Given the description of an element on the screen output the (x, y) to click on. 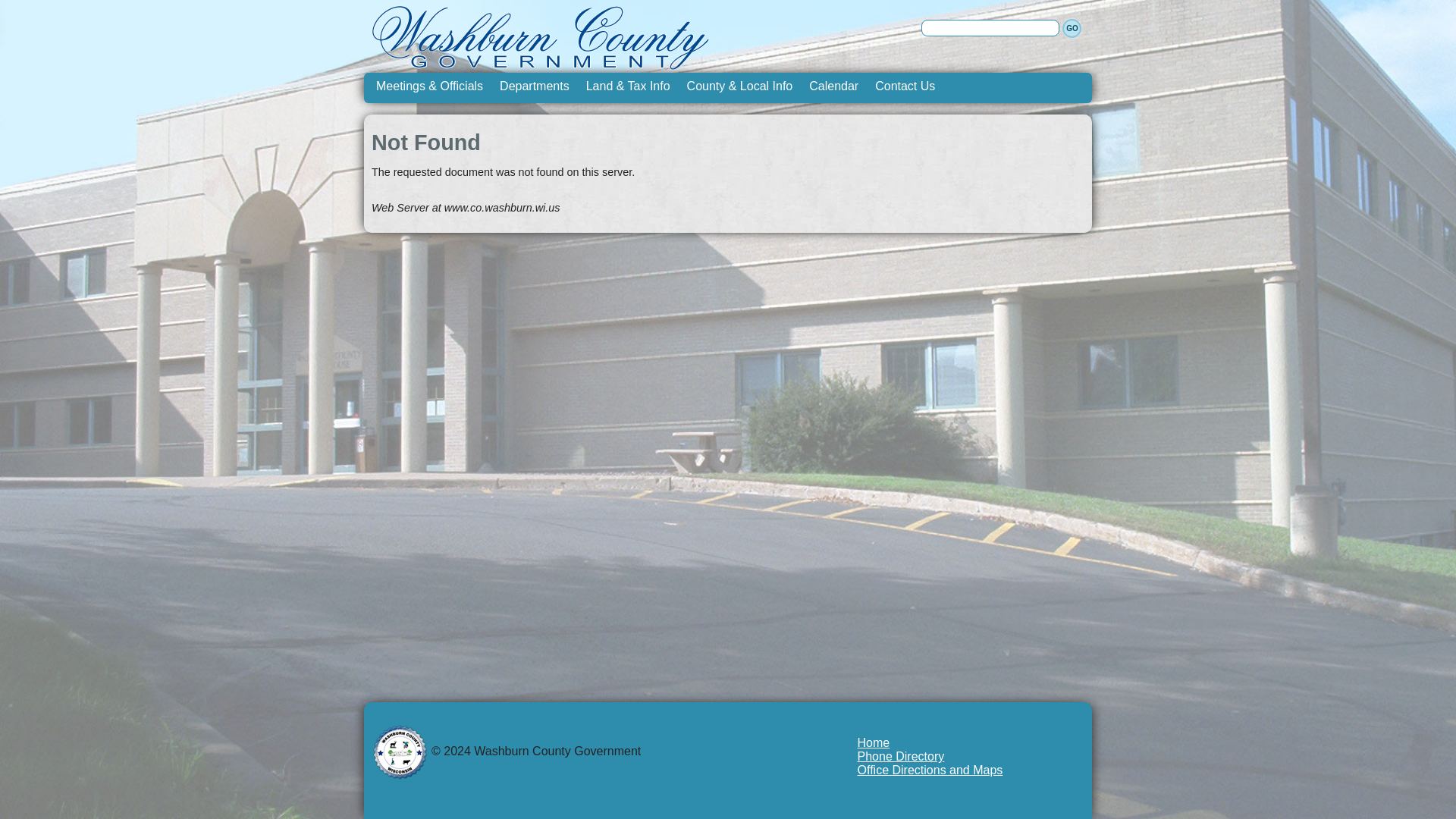
GO (1071, 27)
Departments (534, 86)
GO (1071, 27)
GO (1071, 27)
